Given the description of an element on the screen output the (x, y) to click on. 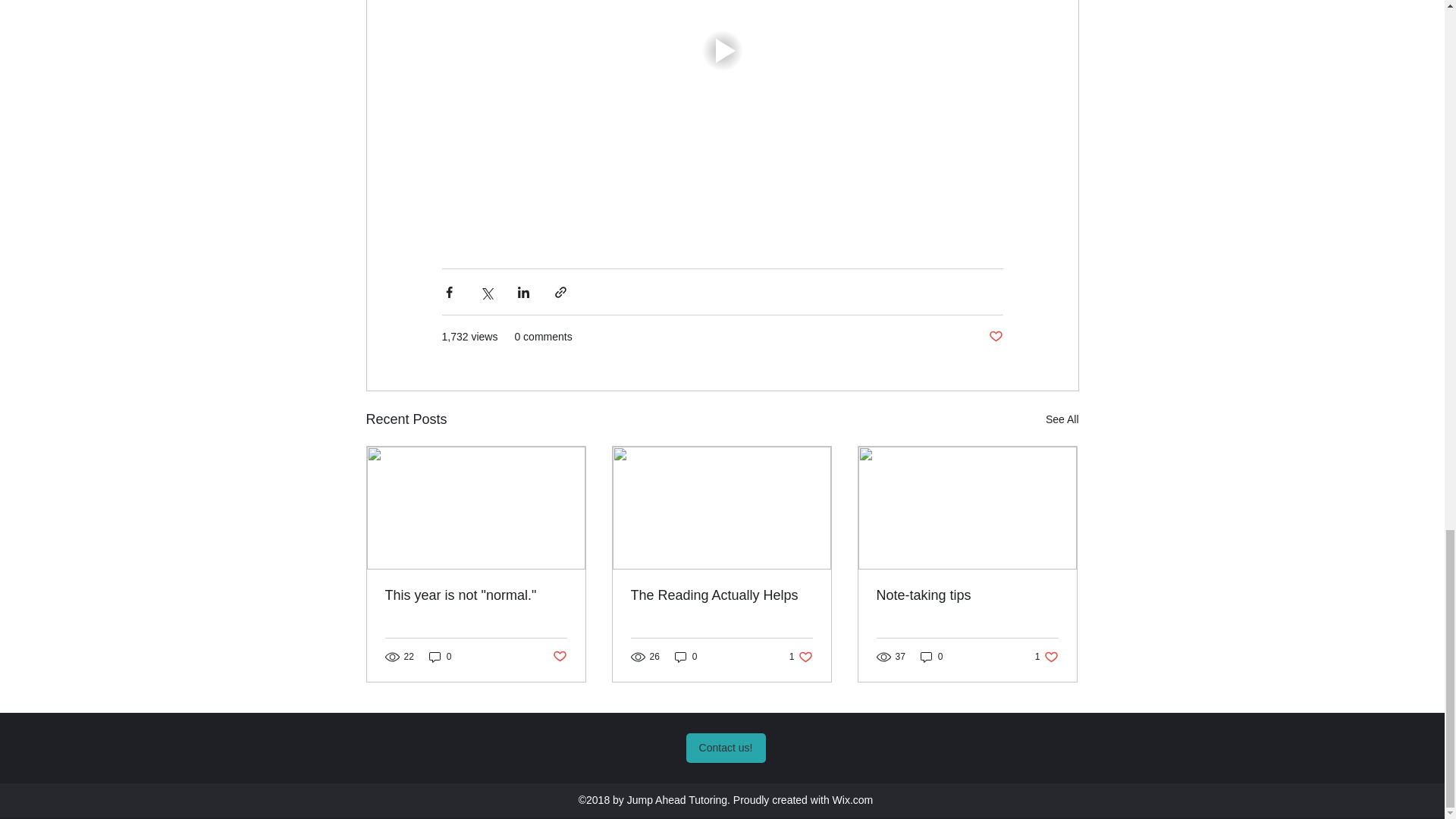
Note-taking tips (967, 595)
Contact us! (725, 747)
Post not marked as liked (558, 657)
The Reading Actually Helps (721, 595)
See All (1061, 419)
Post not marked as liked (995, 336)
0 (1046, 657)
This year is not "normal." (800, 657)
